Given the description of an element on the screen output the (x, y) to click on. 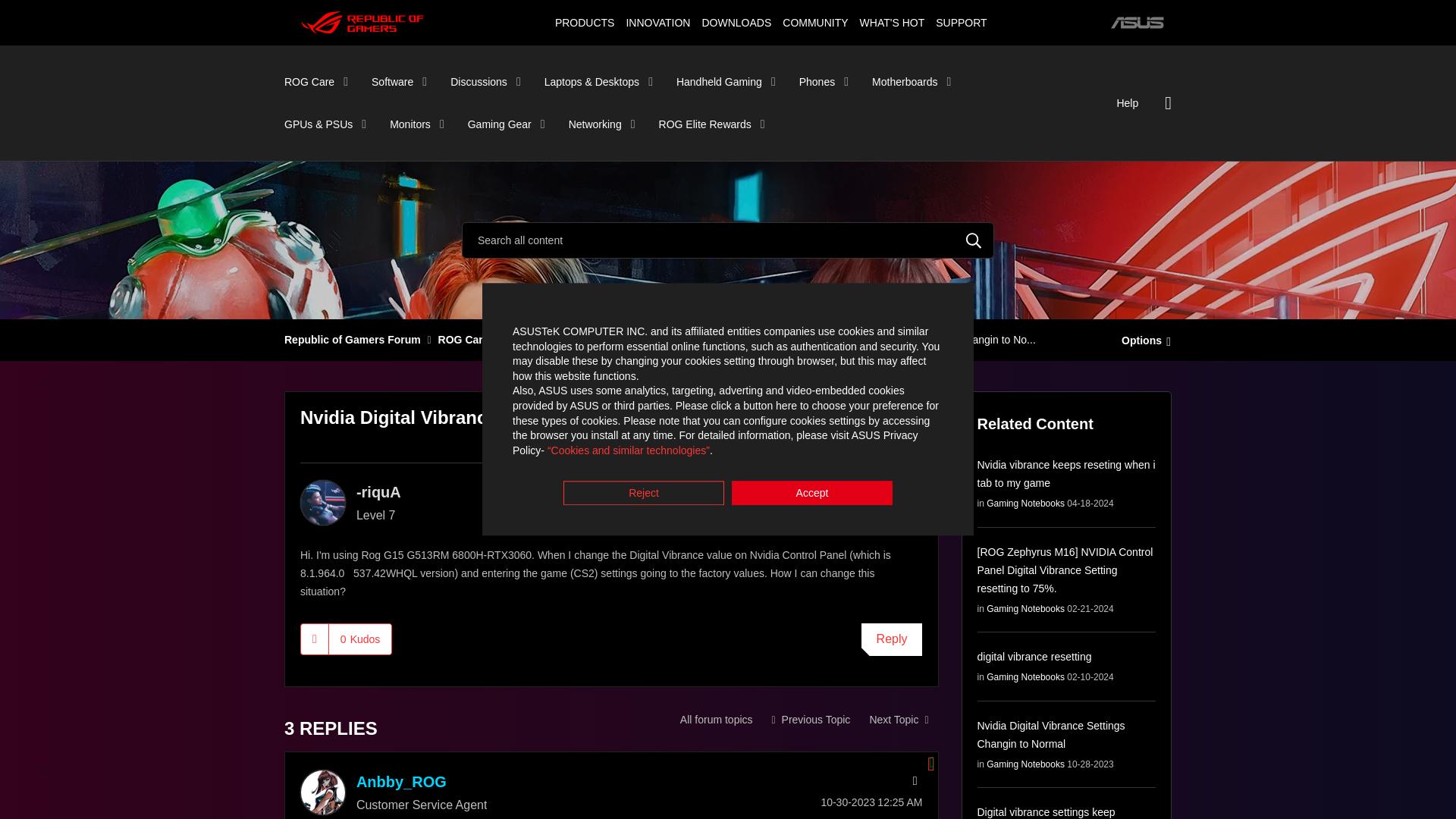
DOWNLOADS (736, 22)
Search (973, 239)
INNOVATION (657, 22)
The total number of kudos this post has received. (360, 639)
-riquA (322, 502)
GX650PZ-XS96 DisplayHDR driver issue, Will not certify. (898, 719)
Show option menu (1142, 339)
Search (727, 239)
Gaming Notebooks (715, 719)
COMMUNITY (815, 22)
